Given the description of an element on the screen output the (x, y) to click on. 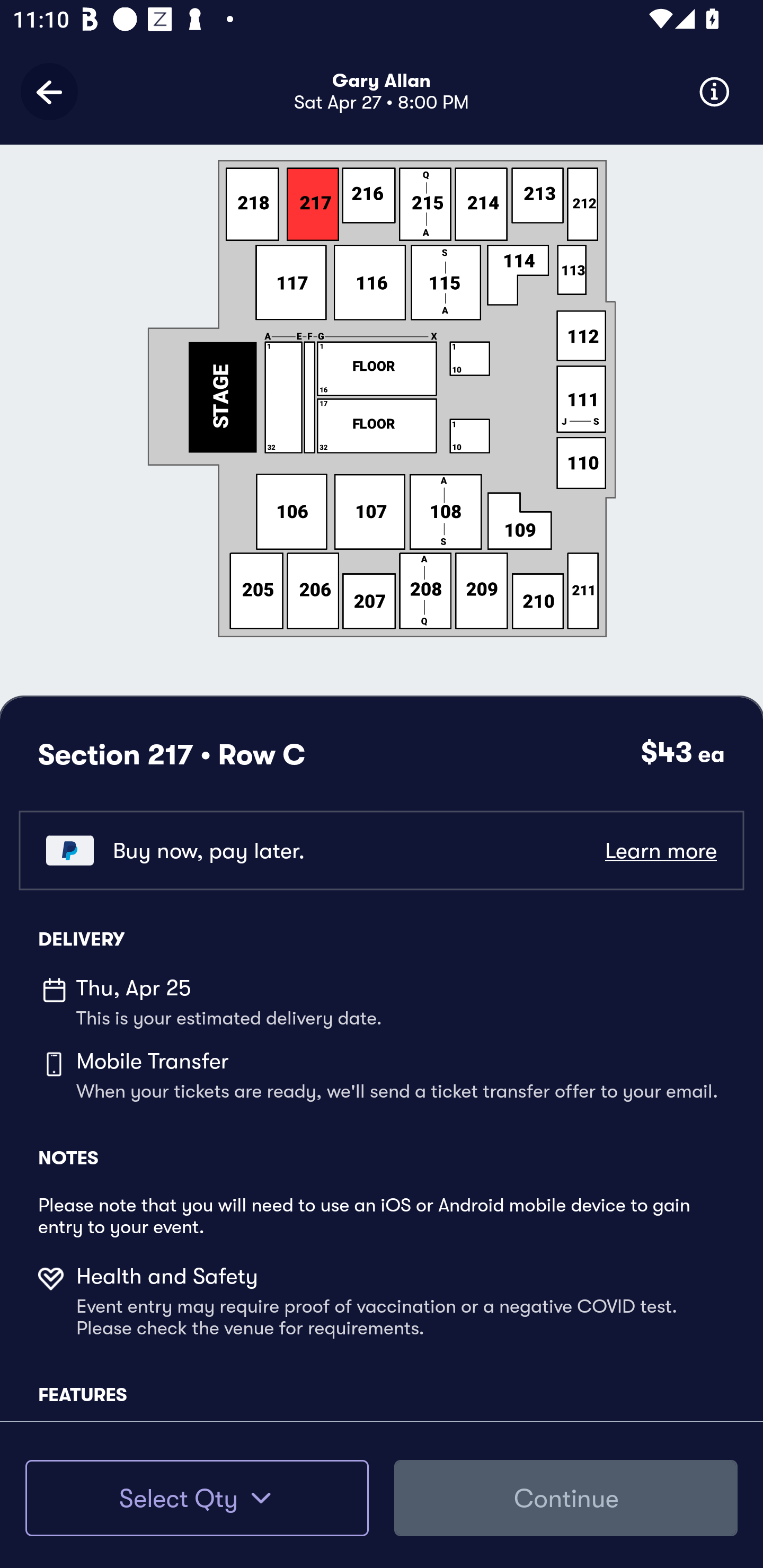
Learn more (660, 850)
Select Qty (196, 1497)
Continue (565, 1497)
